Given the description of an element on the screen output the (x, y) to click on. 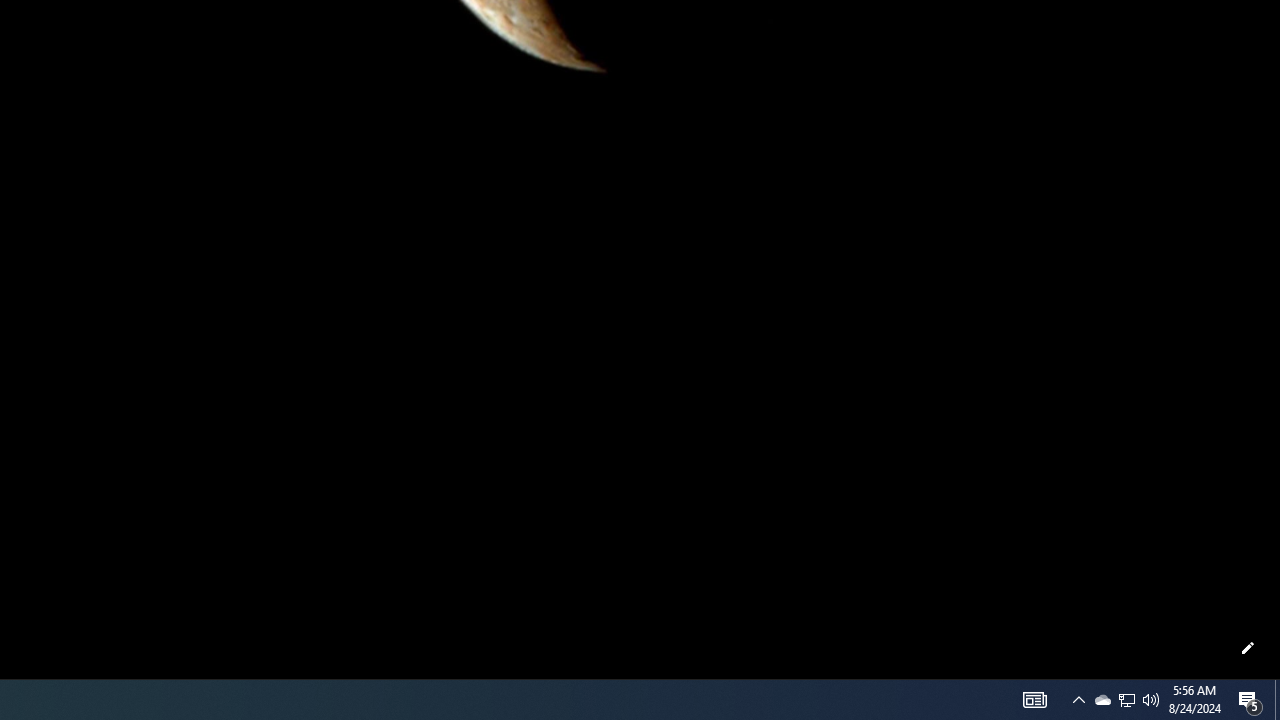
Customize this page (1247, 647)
